Given the description of an element on the screen output the (x, y) to click on. 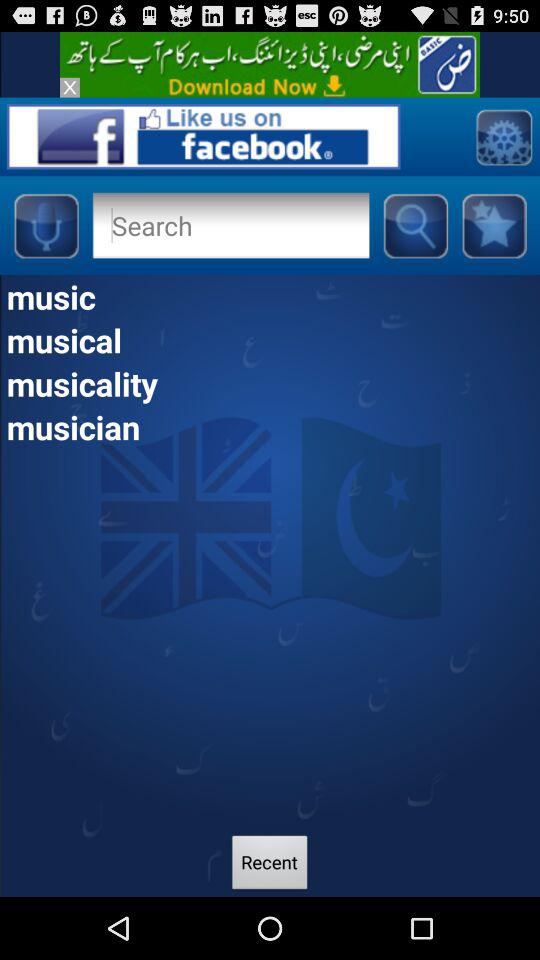
search (415, 225)
